Given the description of an element on the screen output the (x, y) to click on. 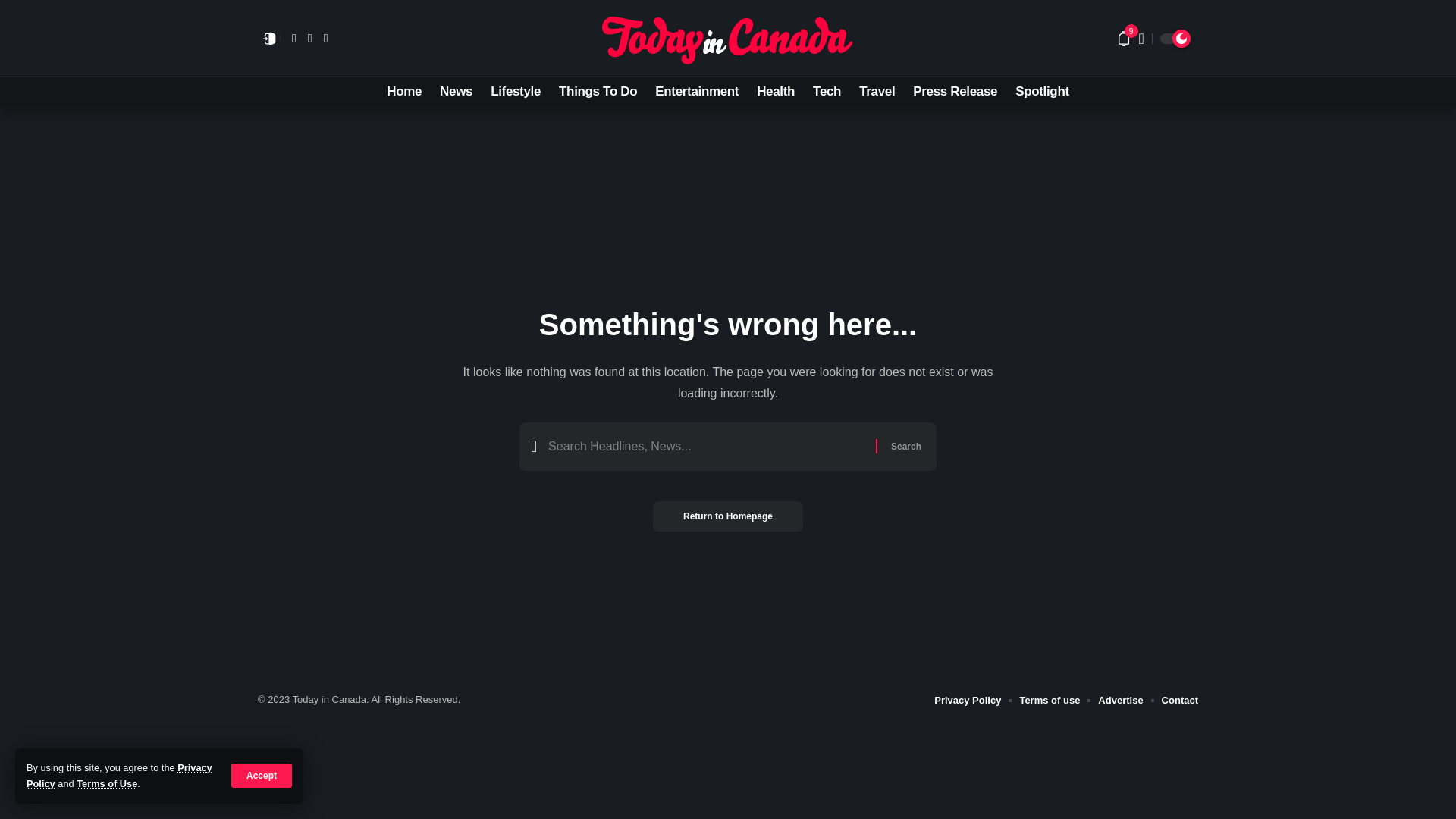
Home (403, 91)
Search (906, 446)
Today in Canada (727, 38)
9 (1123, 37)
